Given the description of an element on the screen output the (x, y) to click on. 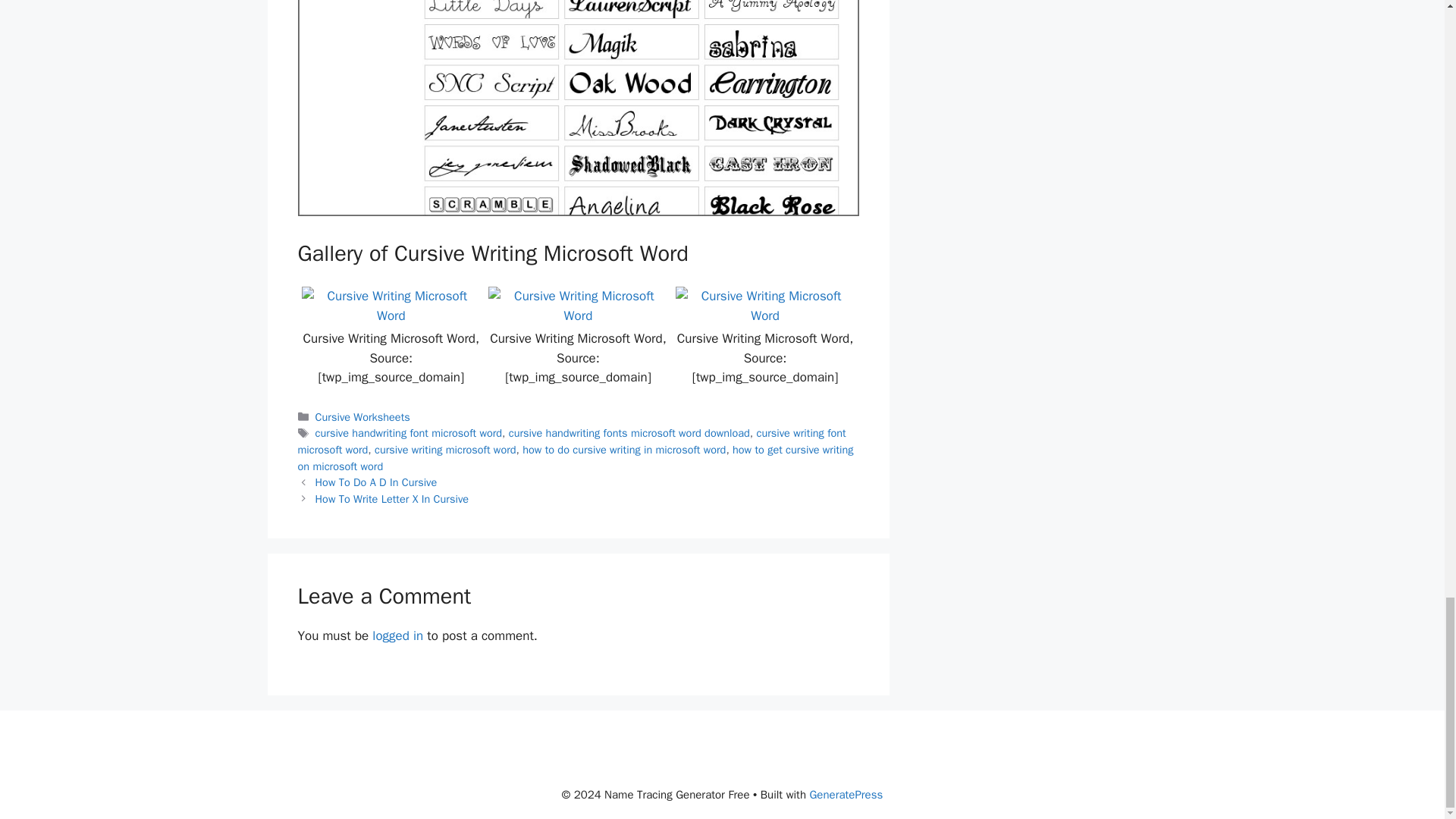
How To Do A D In Cursive (376, 481)
How To Write Letter X In Cursive (391, 499)
how to do cursive writing in microsoft word (623, 449)
cursive writing microsoft word (445, 449)
how to get cursive writing on microsoft word (575, 458)
Cursive Worksheets (362, 417)
logged in (397, 635)
cursive writing font microsoft word (571, 440)
GeneratePress (845, 794)
cursive handwriting fonts microsoft word download (628, 432)
